Given the description of an element on the screen output the (x, y) to click on. 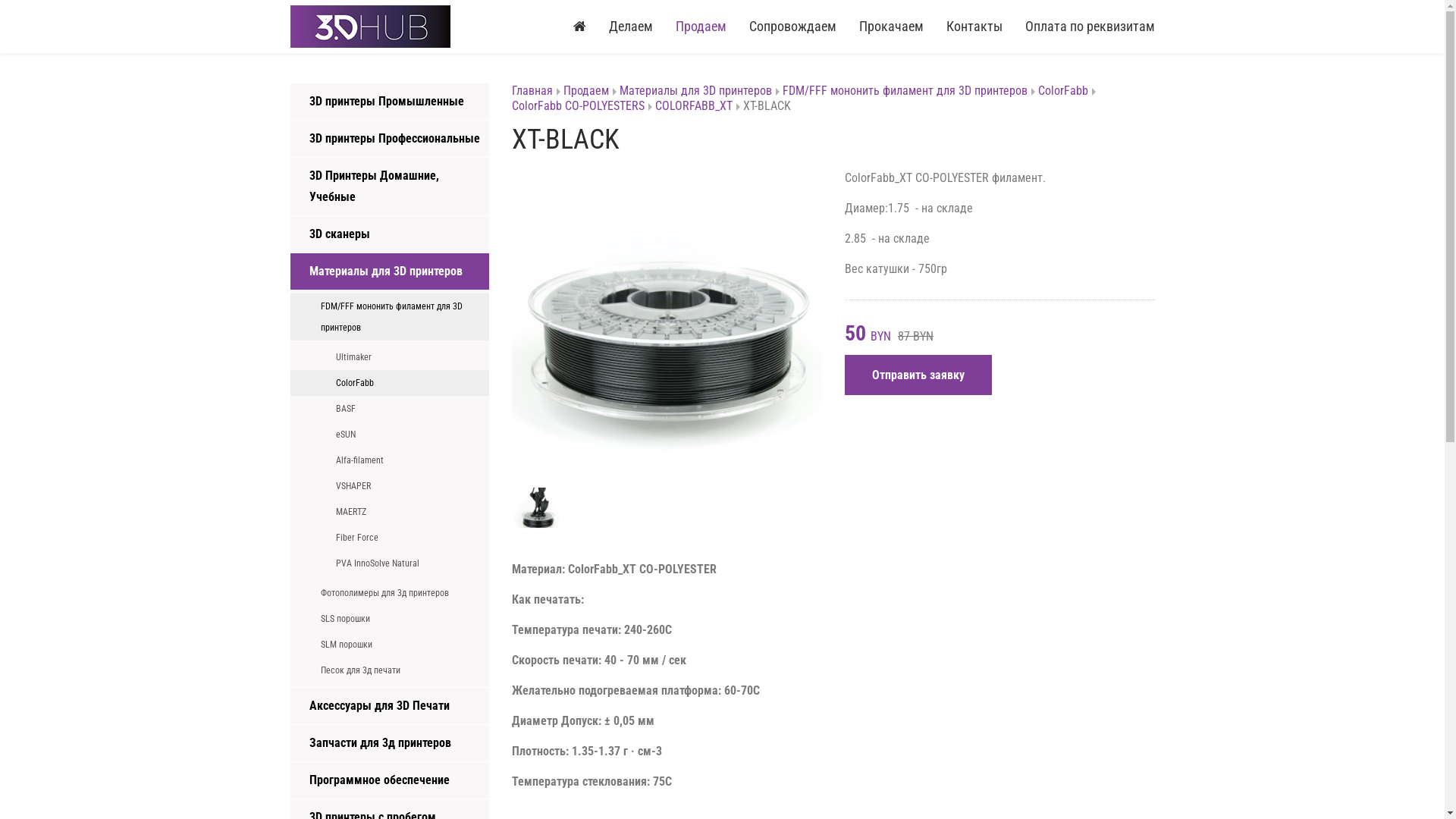
Alfa-filament Element type: text (389, 460)
VSHAPER Element type: text (389, 485)
Fiber Force Element type: text (389, 537)
BASF Element type: text (389, 408)
COLORFABB_XT Element type: text (697, 105)
ColorFabb CO-POLYESTERS Element type: text (581, 105)
PVA InnoSolve Natural Element type: text (389, 563)
ColorFabb Element type: text (1066, 90)
ColorFabb Element type: text (389, 382)
eSUN Element type: text (389, 434)
MAERTZ Element type: text (389, 511)
Ultimaker Element type: text (389, 357)
